Given the description of an element on the screen output the (x, y) to click on. 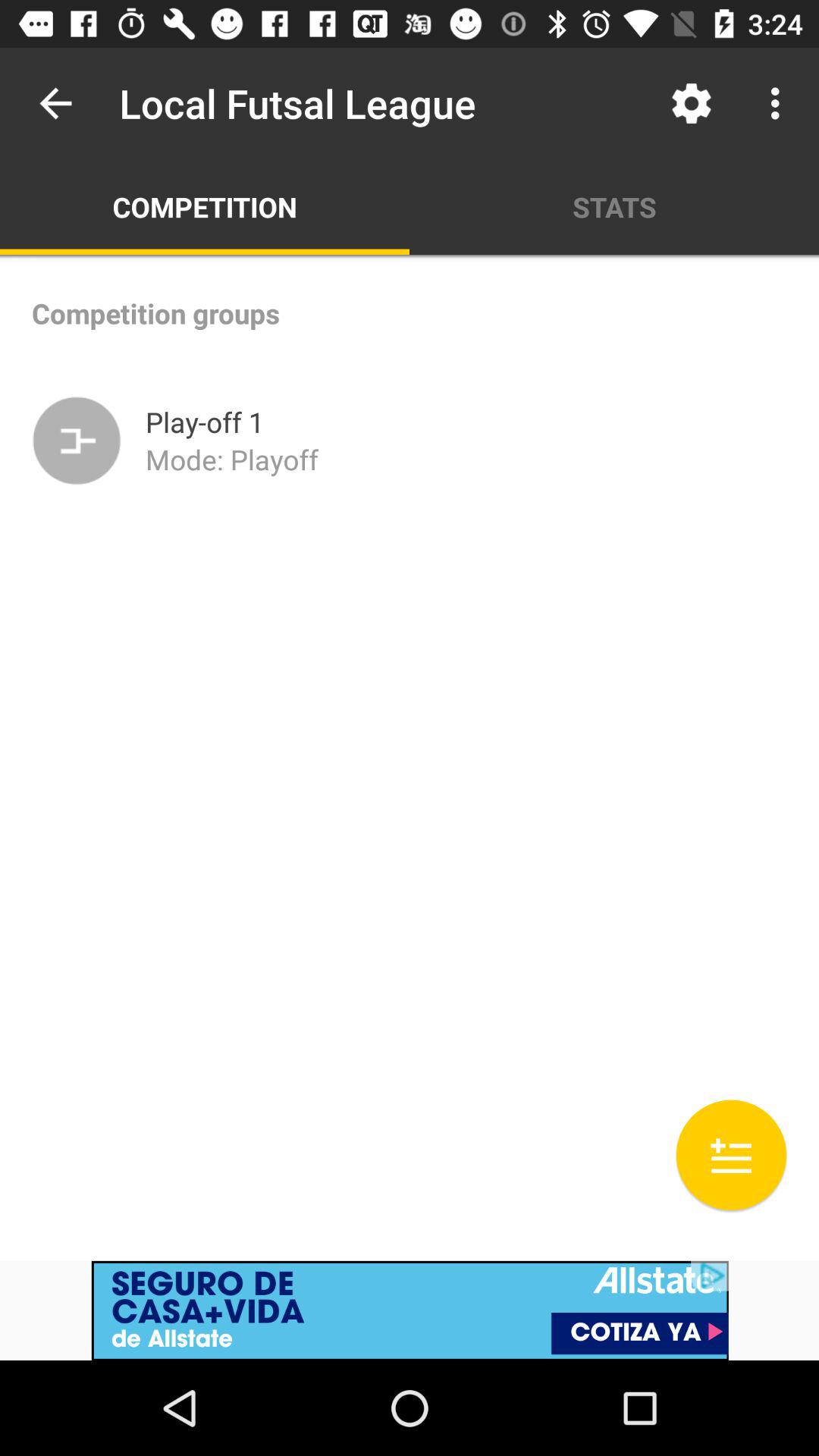
click on stats (614, 206)
click on the settings icon (691, 103)
select the icon below the competition (76, 441)
